Given the description of an element on the screen output the (x, y) to click on. 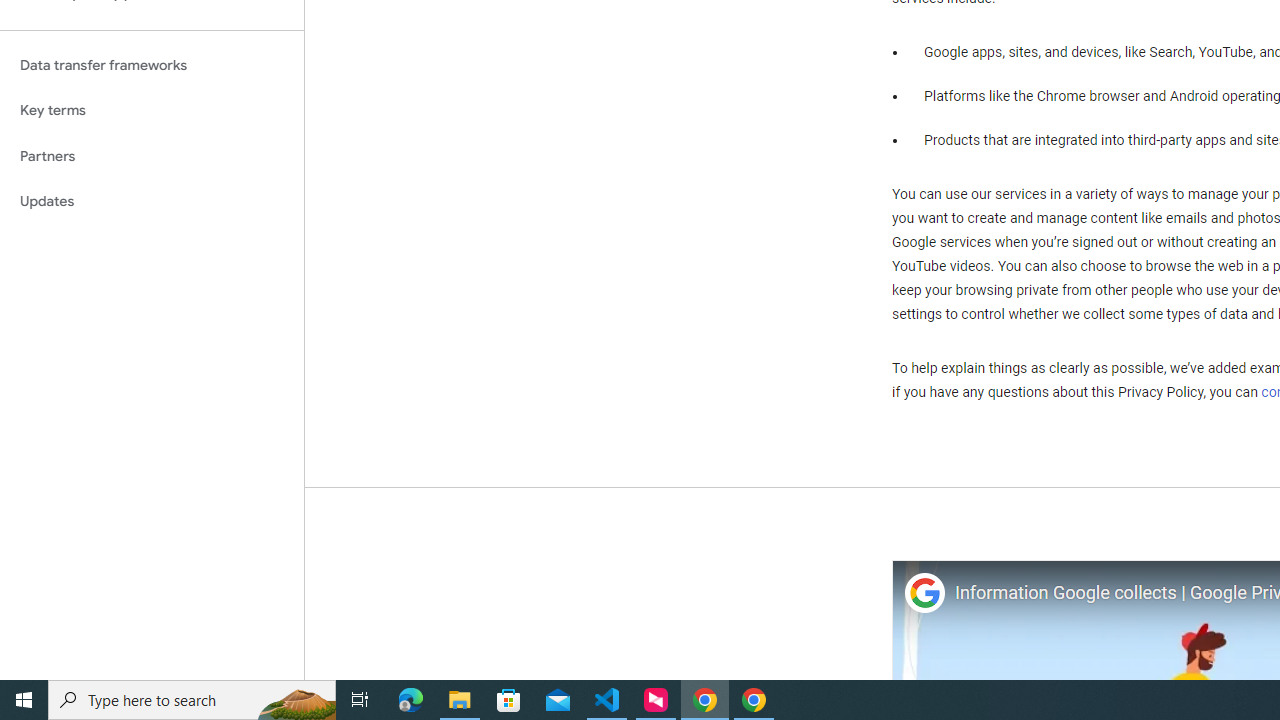
Photo image of Google (924, 593)
Key terms (152, 110)
Data transfer frameworks (152, 65)
Partners (152, 156)
